Given the description of an element on the screen output the (x, y) to click on. 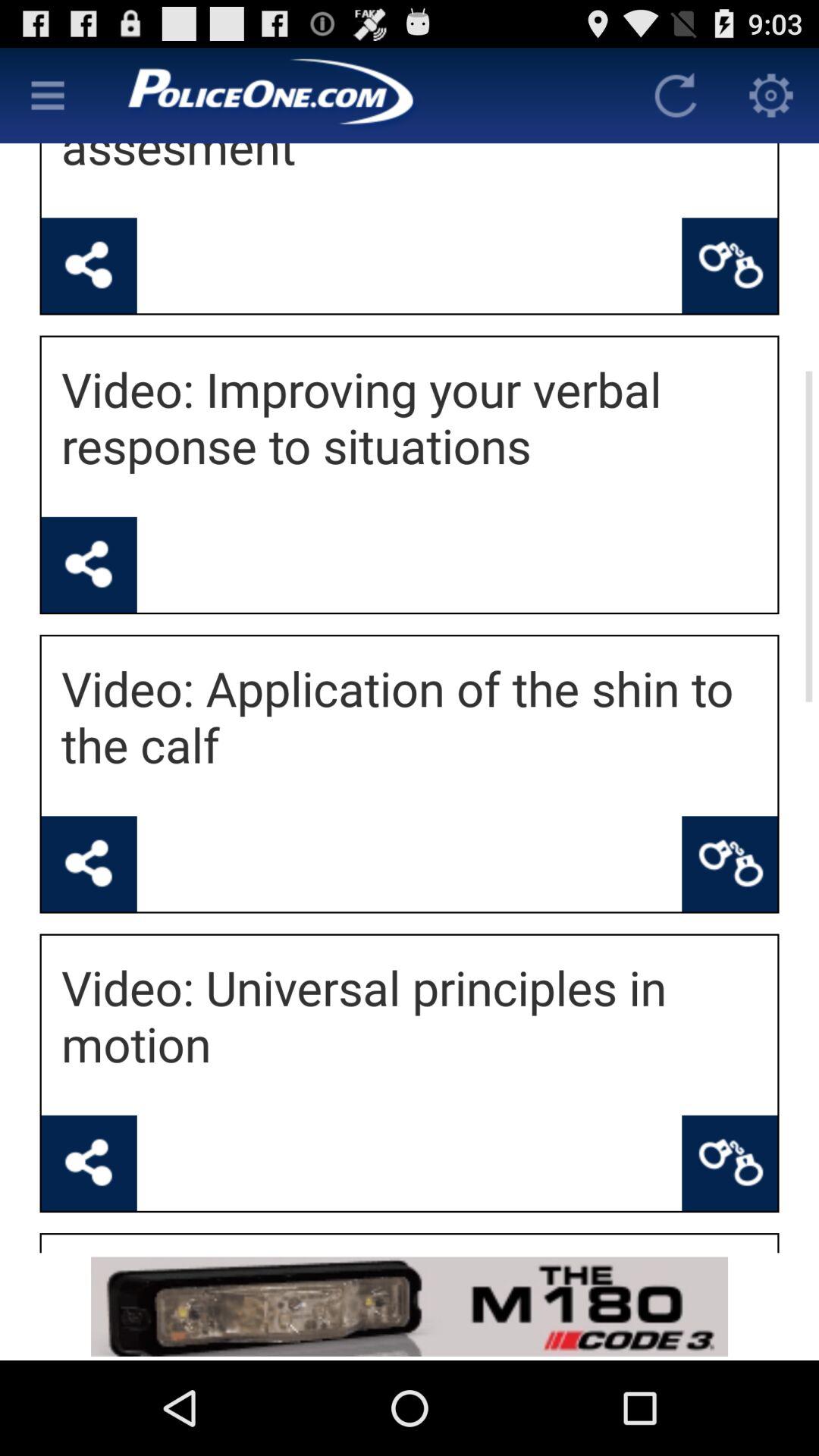
view advertisement (409, 1306)
